Given the description of an element on the screen output the (x, y) to click on. 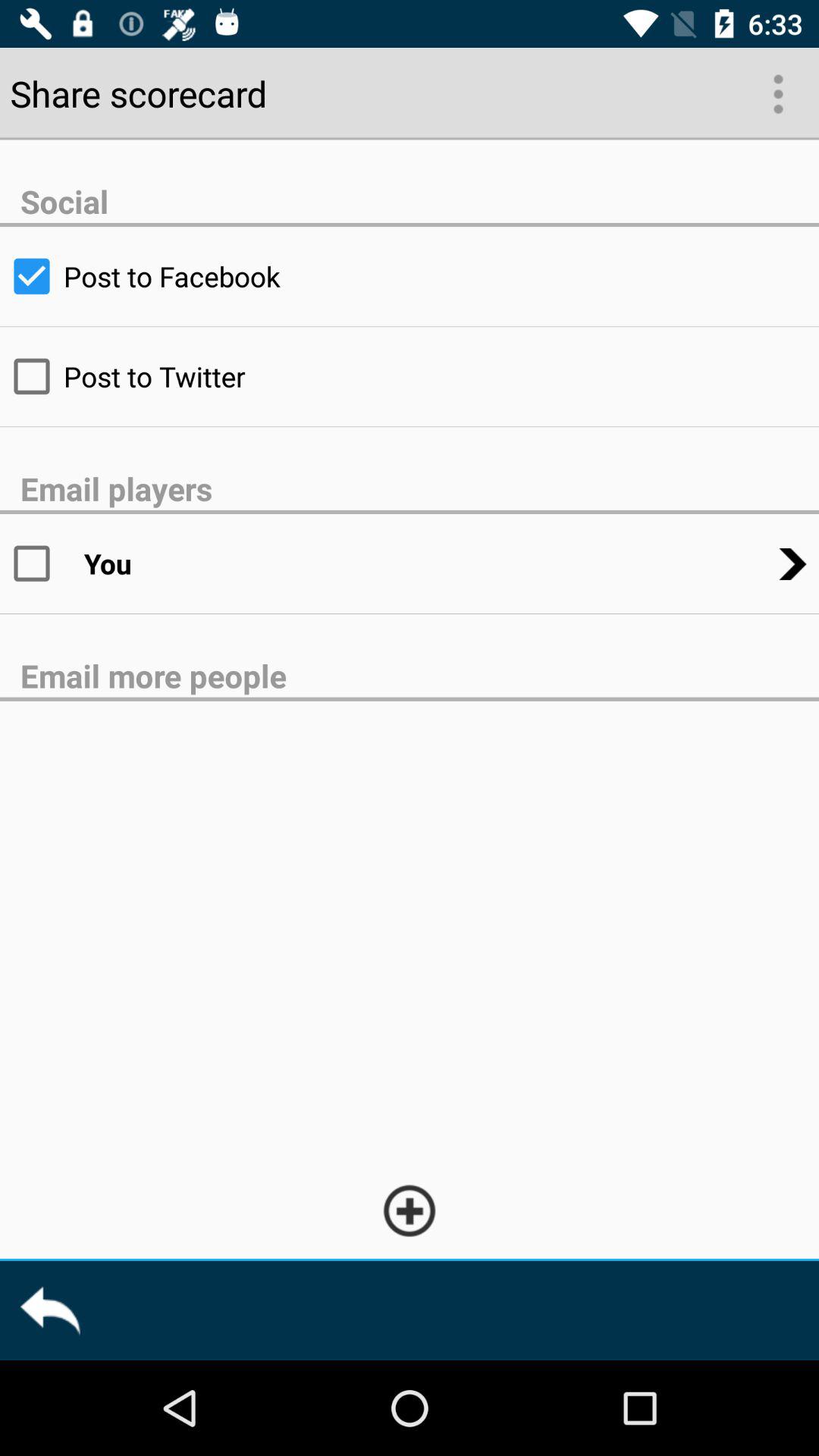
more options (776, 92)
